Given the description of an element on the screen output the (x, y) to click on. 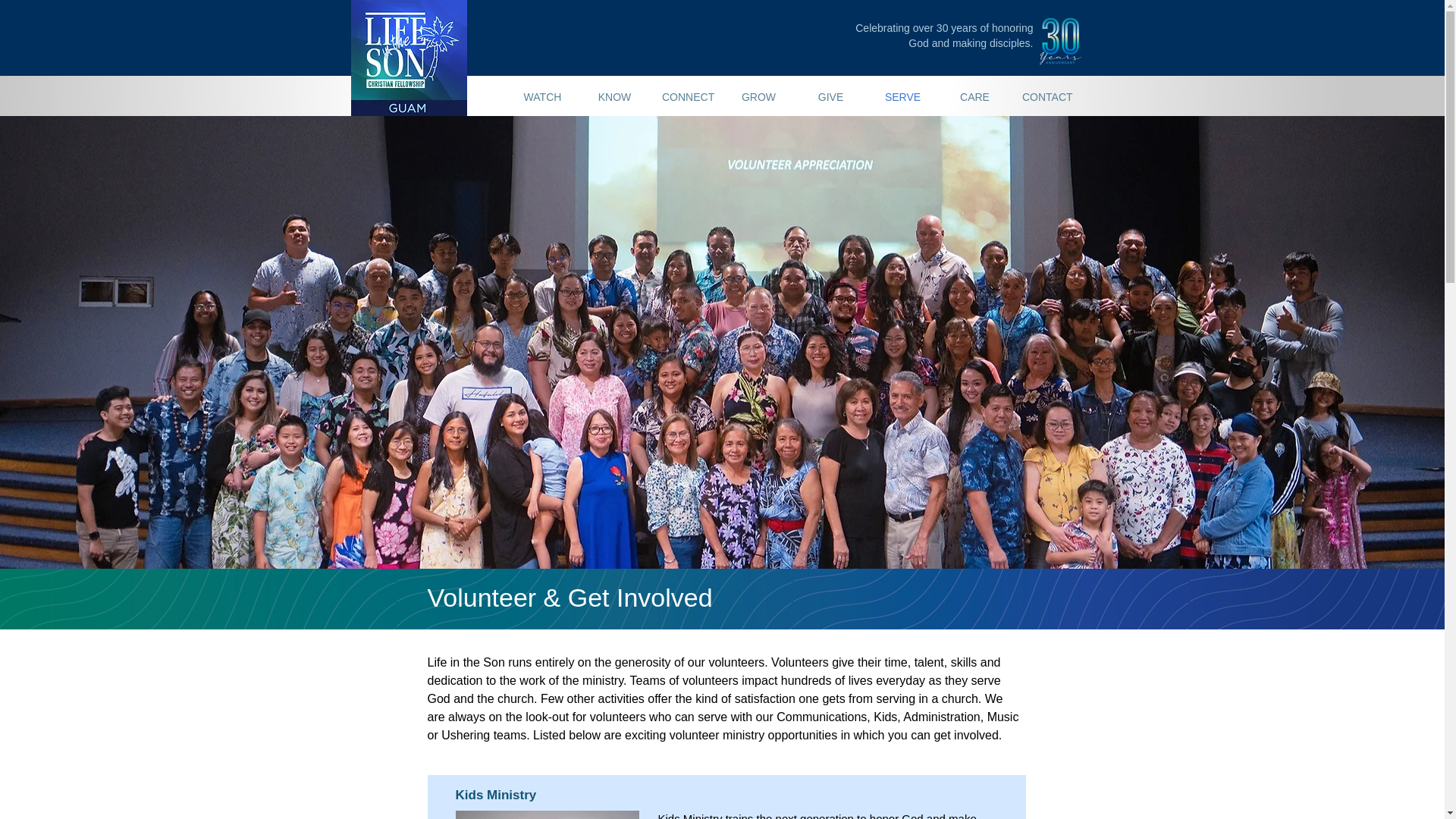
CARE (974, 96)
GIVE (830, 96)
CONNECT (686, 96)
CONTACT (1046, 96)
GROW (758, 96)
Life Groups Leaders-17.png (546, 814)
KNOW (614, 96)
SERVE (902, 96)
WATCH (542, 96)
